Given the description of an element on the screen output the (x, y) to click on. 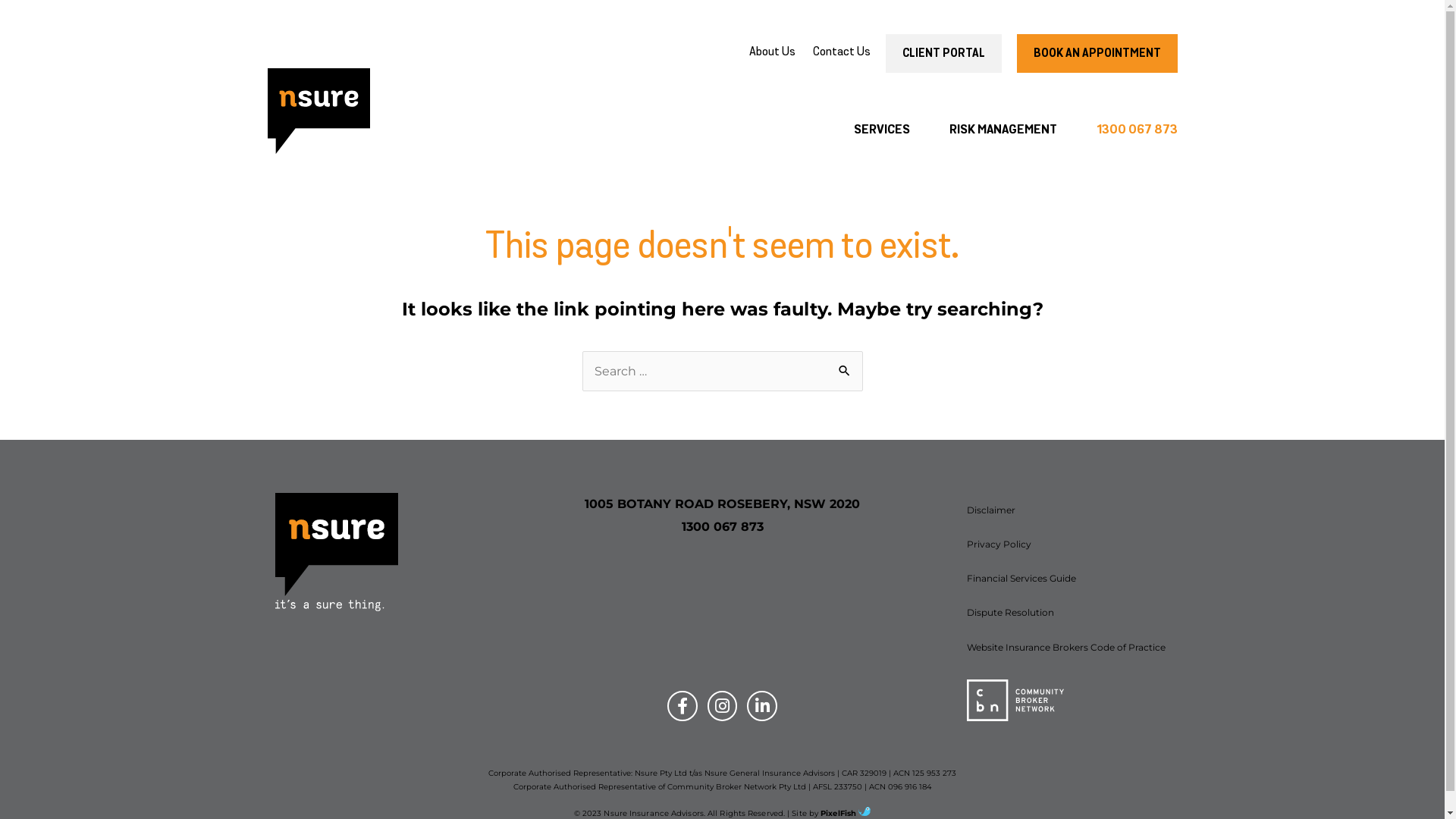
Instagram Element type: text (722, 705)
PixelFish Element type: text (845, 813)
Website Insurance Brokers Code of Practice Element type: text (1067, 647)
About Us Element type: text (772, 52)
Privacy Policy Element type: text (1067, 544)
Search Element type: text (845, 366)
RISK MANAGEMENT Element type: text (1002, 130)
1300 067 873 Element type: text (721, 526)
BOOK AN APPOINTMENT Element type: text (1096, 52)
Dispute Resolution Element type: text (1067, 612)
Financial Services Guide Element type: text (1067, 578)
Disclaimer Element type: text (1067, 509)
Facebook-f Element type: text (682, 705)
SERVICES Element type: text (881, 130)
CLIENT PORTAL Element type: text (943, 52)
Linkedin-in Element type: text (761, 705)
Contact Us Element type: text (841, 52)
1300 067 873 Element type: text (1126, 130)
